Given the description of an element on the screen output the (x, y) to click on. 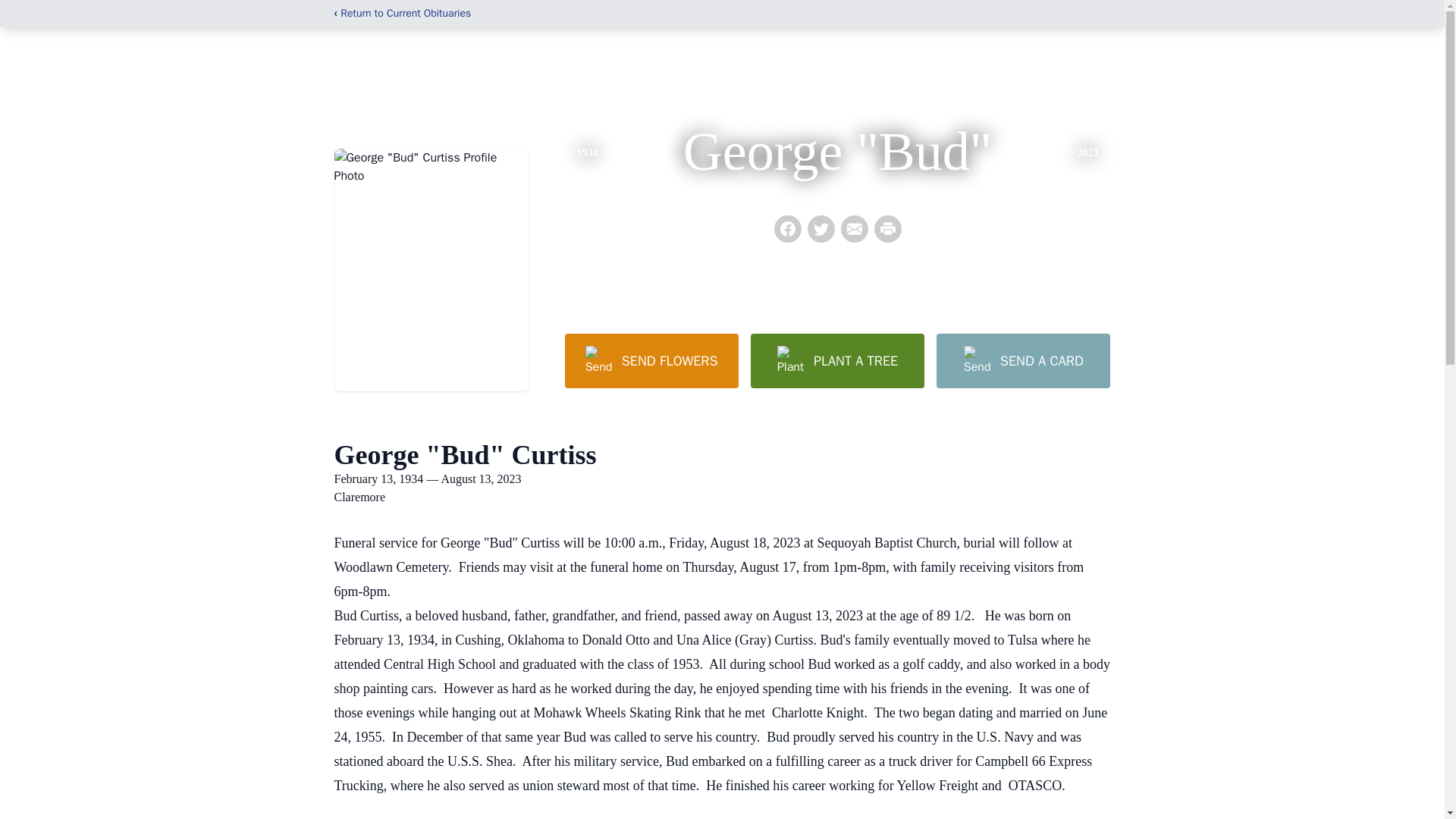
SEND A CARD (1022, 360)
SEND FLOWERS (651, 360)
PLANT A TREE (837, 360)
